Given the description of an element on the screen output the (x, y) to click on. 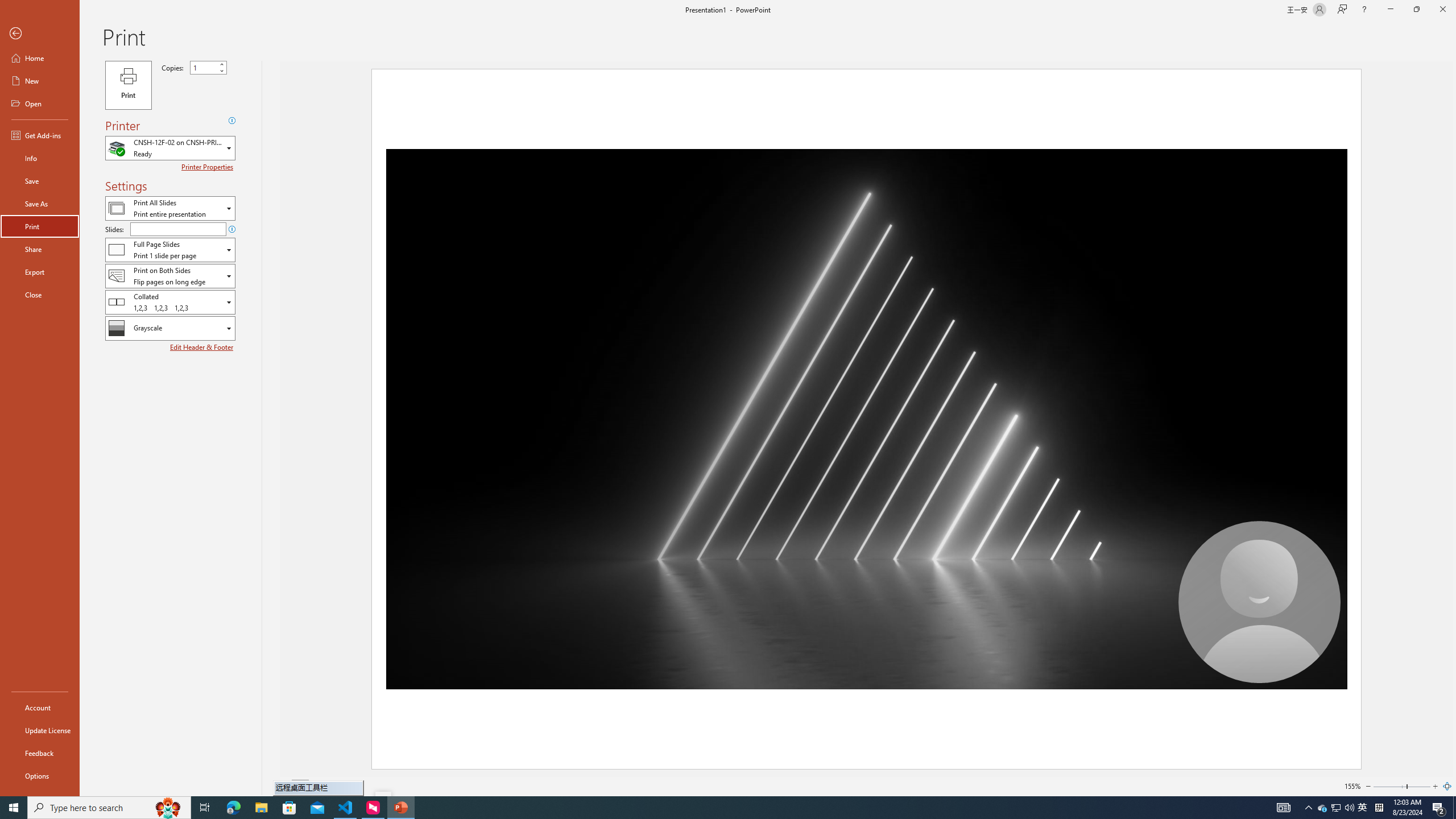
Copies (203, 67)
System (6, 6)
Page right (1418, 786)
Get Add-ins (40, 134)
Close (1442, 9)
Collation (169, 301)
Zoom Out (1367, 786)
Current Page (300, 786)
Less (220, 70)
Next Page (328, 786)
Info (40, 157)
Edit Header & Footer (202, 347)
Restore Down (1416, 9)
Save (40, 180)
Back (40, 33)
